Given the description of an element on the screen output the (x, y) to click on. 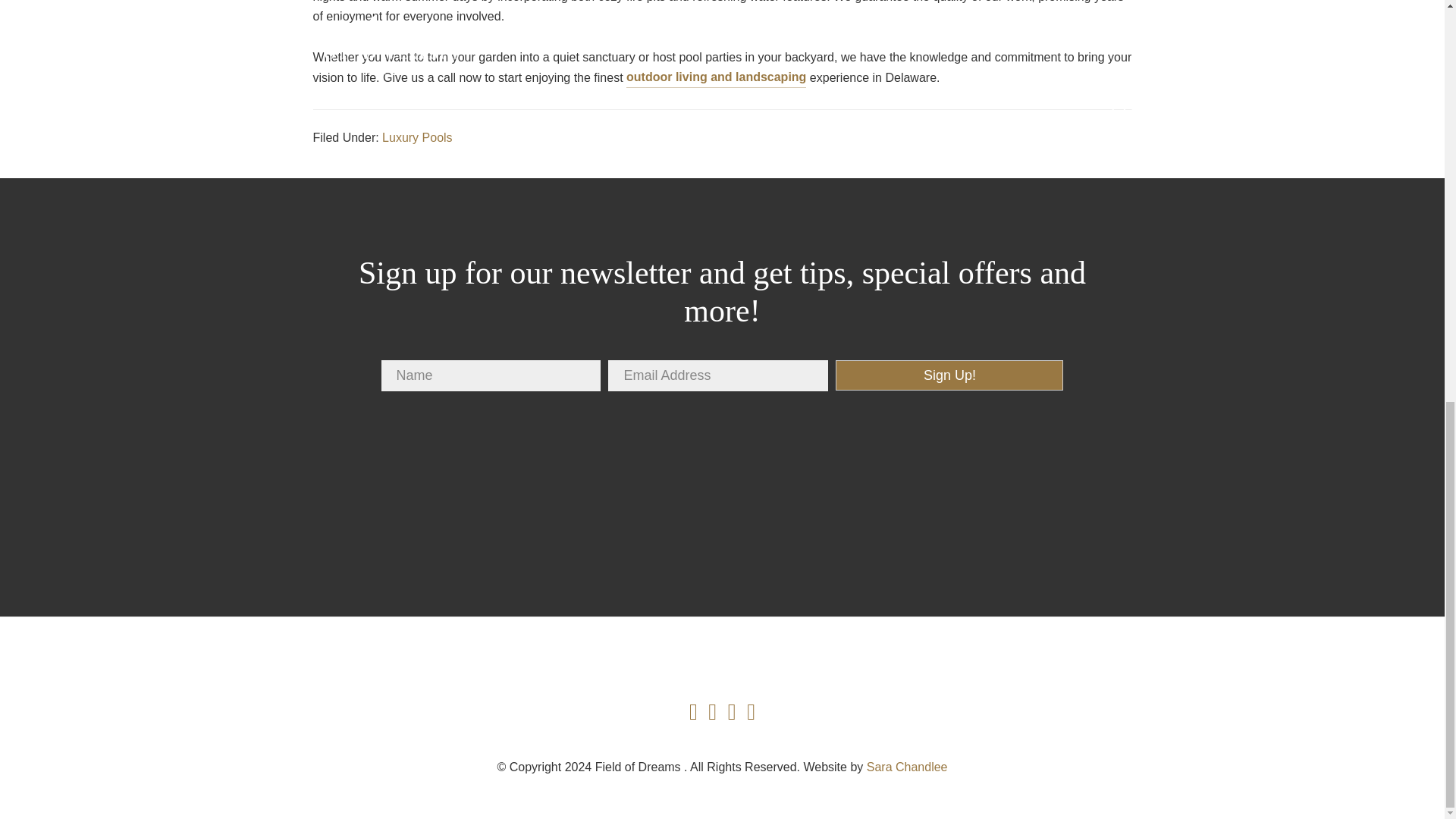
swimmingpools (408, 495)
Sara Chandlee (906, 767)
Luxury Pools (416, 137)
Belgard Pavers (825, 495)
Sign Up! (948, 375)
hfs-finance (1035, 495)
outdoor living and landscaping (716, 77)
al-logo (618, 495)
